Given the description of an element on the screen output the (x, y) to click on. 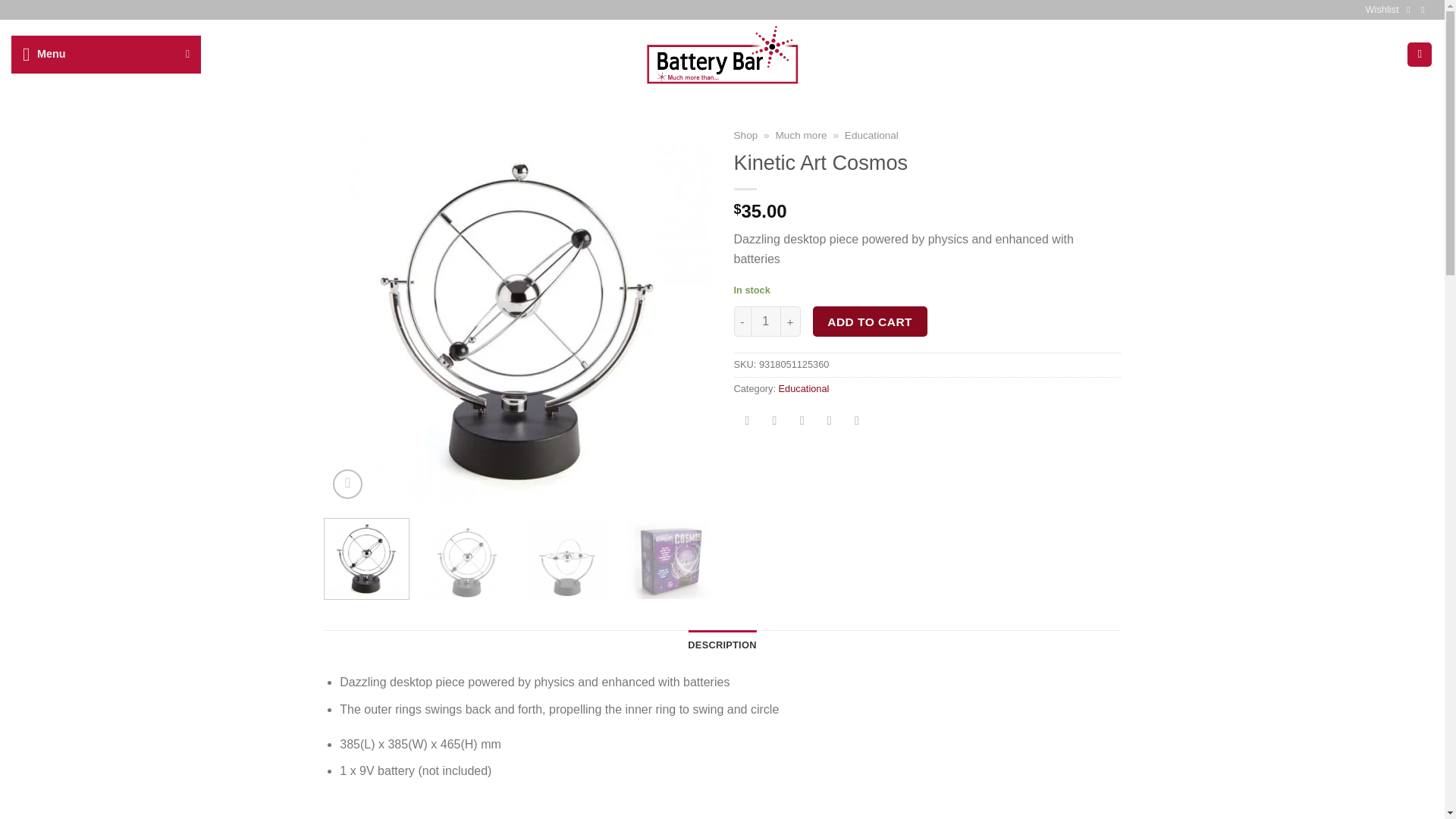
Much more (801, 134)
Email to a Friend (828, 422)
Pin on Pinterest (856, 422)
Wishlist (1381, 9)
Share on X (774, 422)
Shop (745, 134)
Share on Facebook (747, 422)
Educational (871, 134)
Zoom (347, 483)
1 (765, 321)
Cart (1419, 54)
Share on Threads (801, 422)
